Given the description of an element on the screen output the (x, y) to click on. 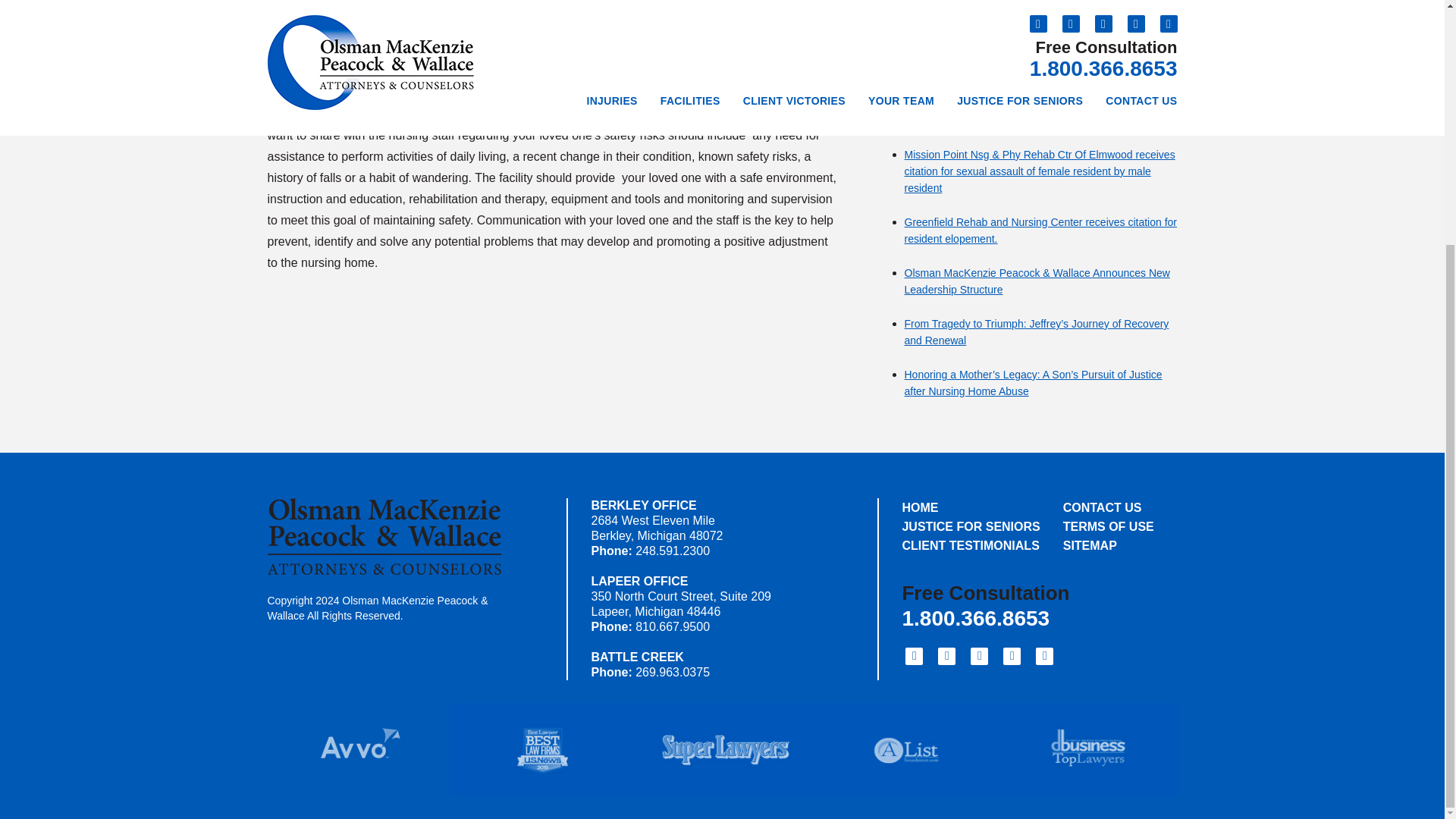
SiteMap (1108, 545)
Home (970, 506)
Client Testimonials (970, 545)
Terms of Use (1108, 526)
Justice for Seniors (970, 526)
Contact Us (1108, 506)
